Given the description of an element on the screen output the (x, y) to click on. 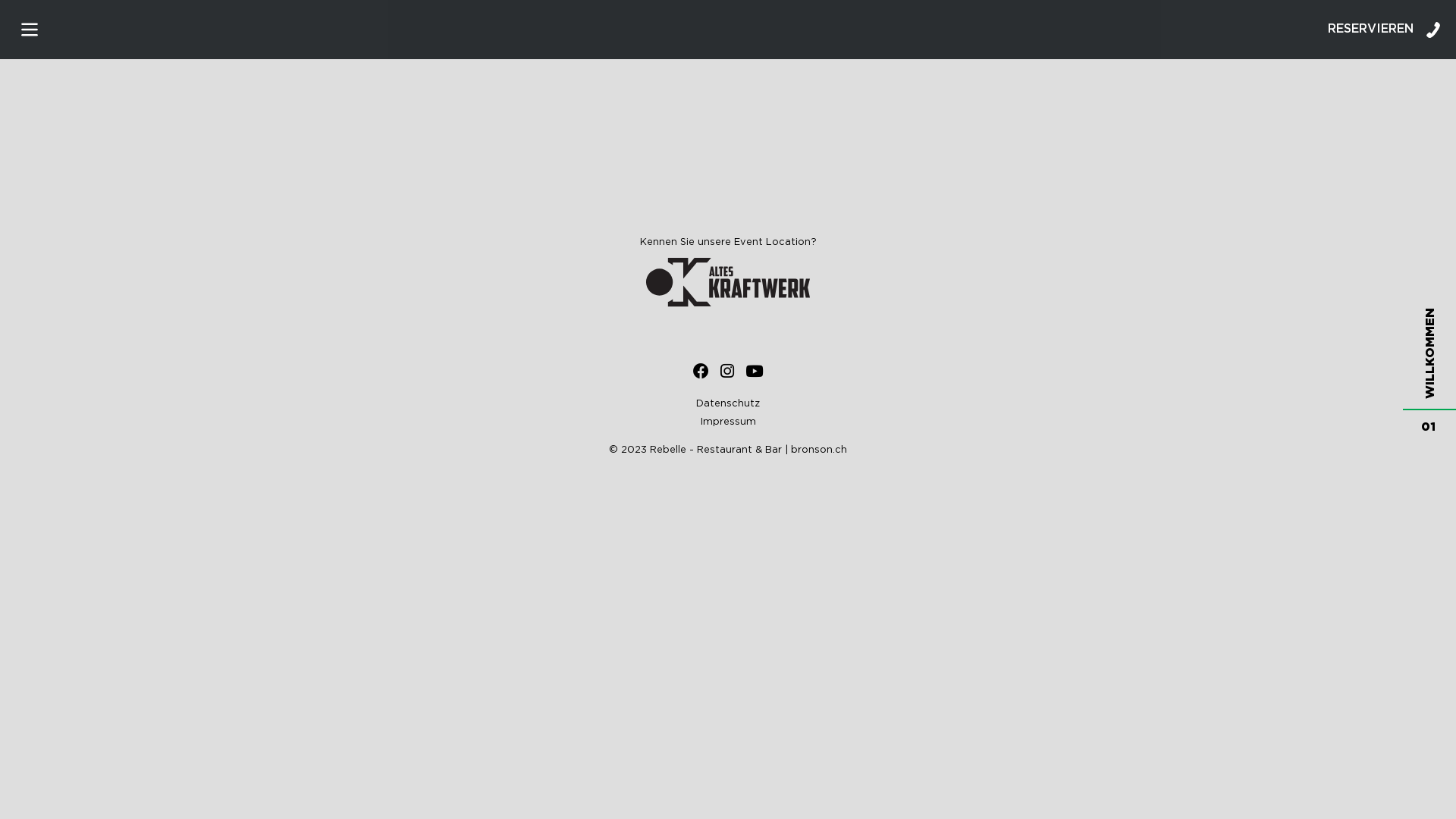
Impressum Element type: text (728, 421)
Datenschutz Element type: text (727, 403)
Kennen Sie unsere Event Location? Element type: text (727, 272)
